Given the description of an element on the screen output the (x, y) to click on. 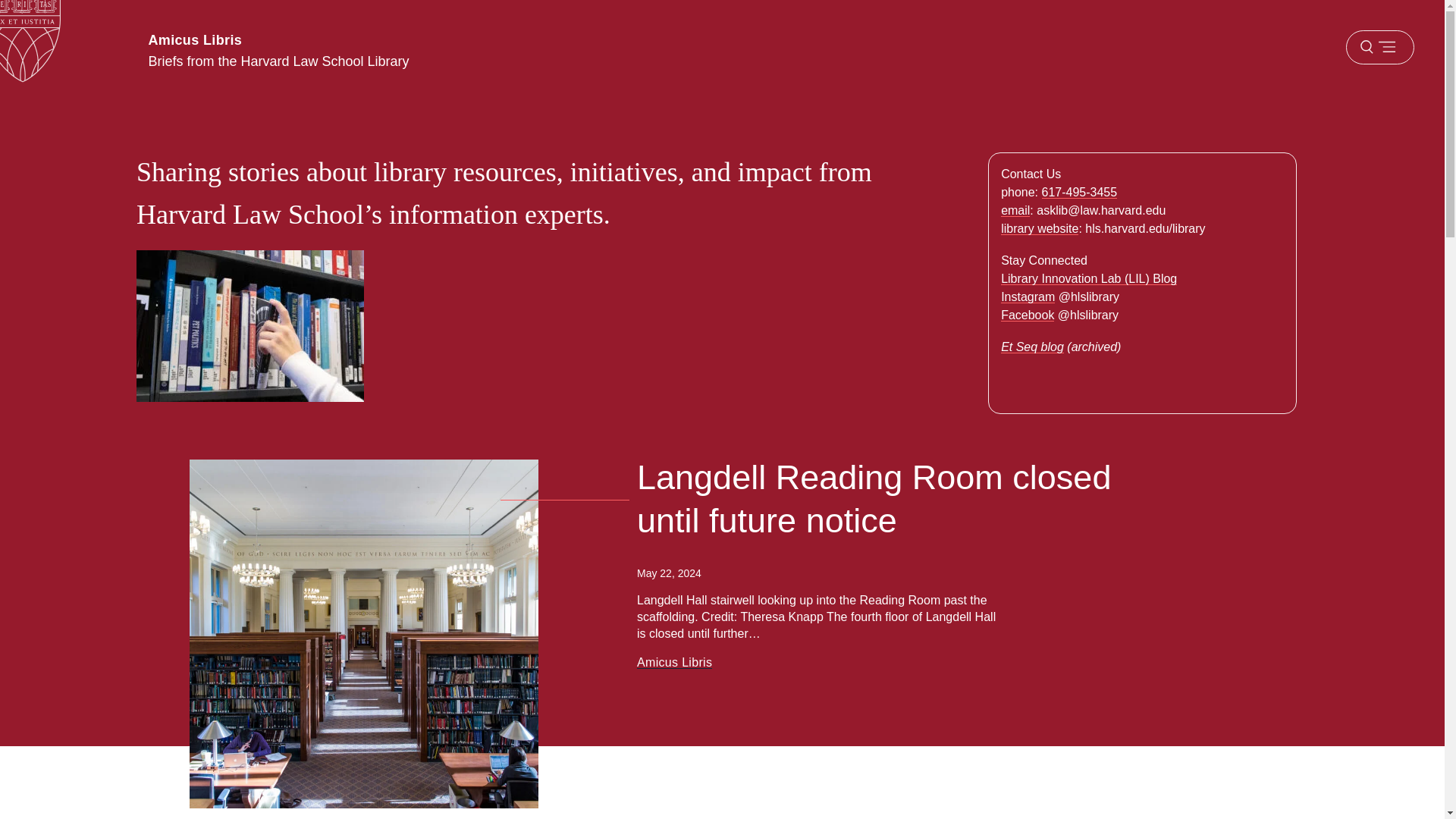
Open menu (1379, 47)
